Given the description of an element on the screen output the (x, y) to click on. 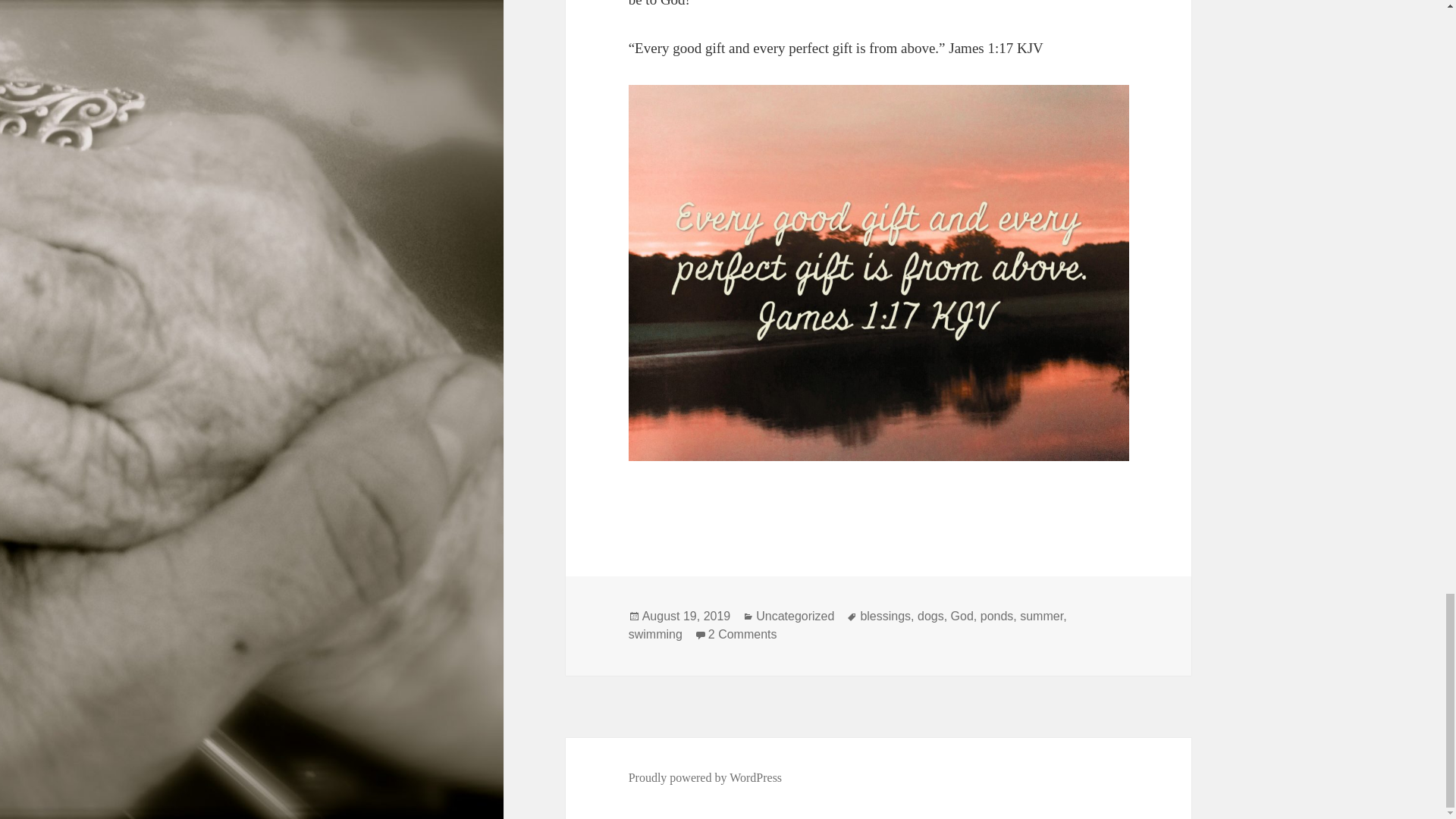
August 19, 2019 (686, 616)
blessings (885, 616)
God (962, 616)
dogs (930, 616)
ponds (996, 616)
summer (1041, 616)
Uncategorized (794, 616)
swimming (655, 634)
Proudly powered by WordPress (704, 777)
